Given the description of an element on the screen output the (x, y) to click on. 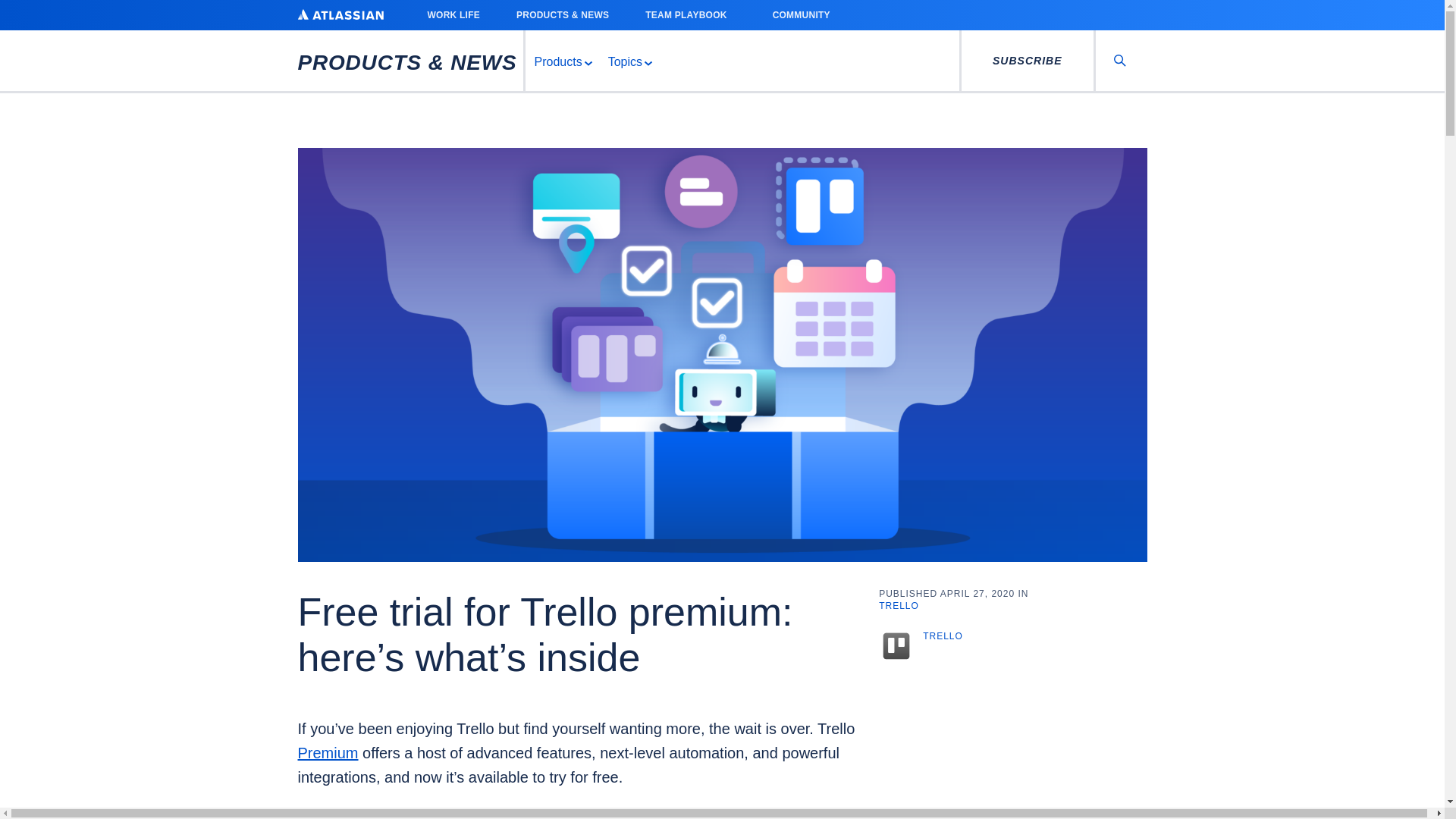
Products (561, 61)
ATLASSIAN (339, 14)
COMMUNITY (806, 14)
Topics (628, 61)
SUBSCRIBE (1026, 60)
WORK LIFE (454, 14)
TEAM PLAYBOOK (690, 14)
